Given the description of an element on the screen output the (x, y) to click on. 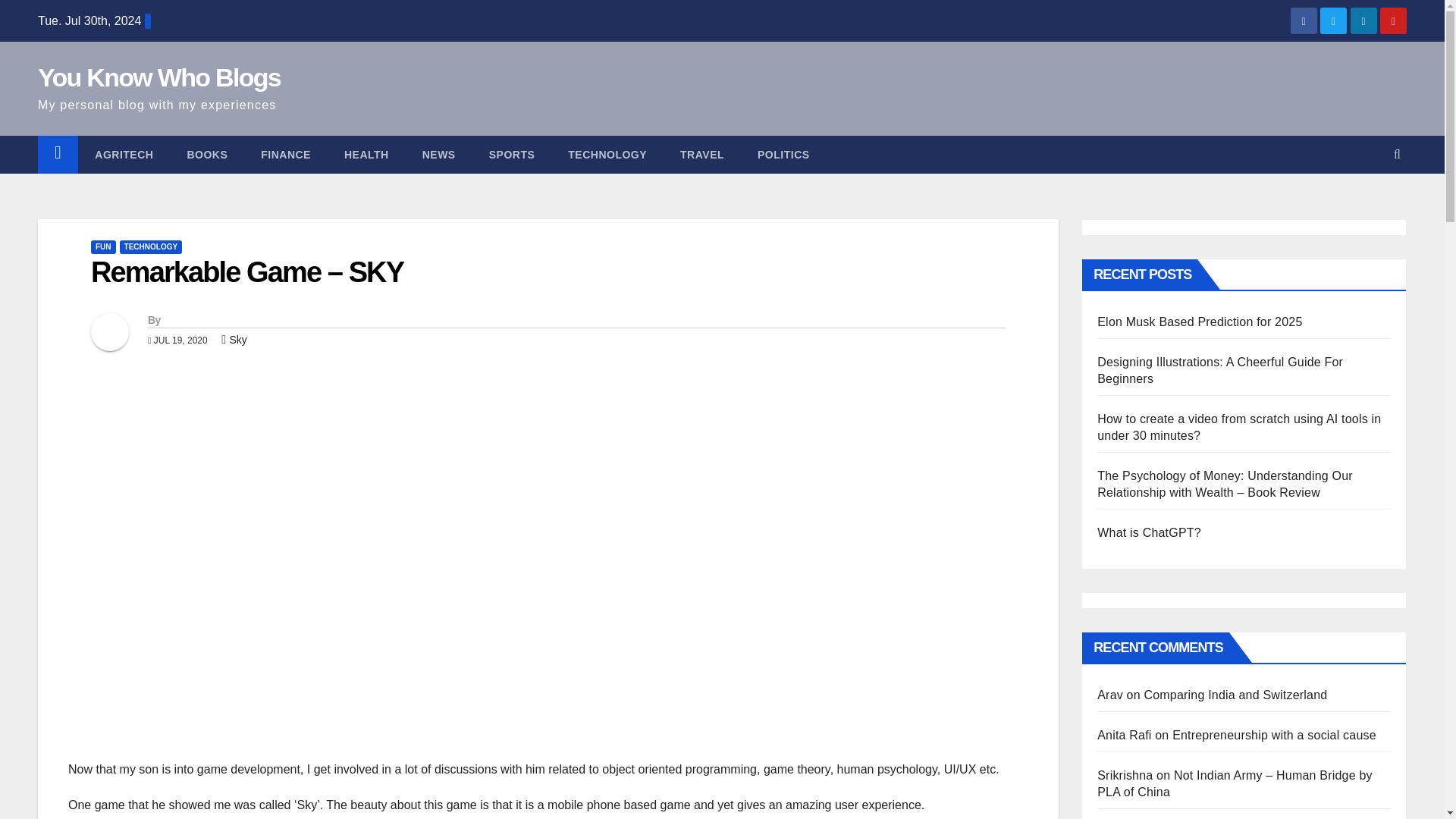
BOOKS (207, 154)
You Know Who Blogs (159, 77)
TECHNOLOGY (151, 246)
SPORTS (511, 154)
POLITICS (784, 154)
NEWS (438, 154)
AGRITECH (124, 154)
TRAVEL (702, 154)
TECHNOLOGY (607, 154)
HEALTH (366, 154)
FINANCE (285, 154)
Sky (237, 339)
FUN (103, 246)
